Given the description of an element on the screen output the (x, y) to click on. 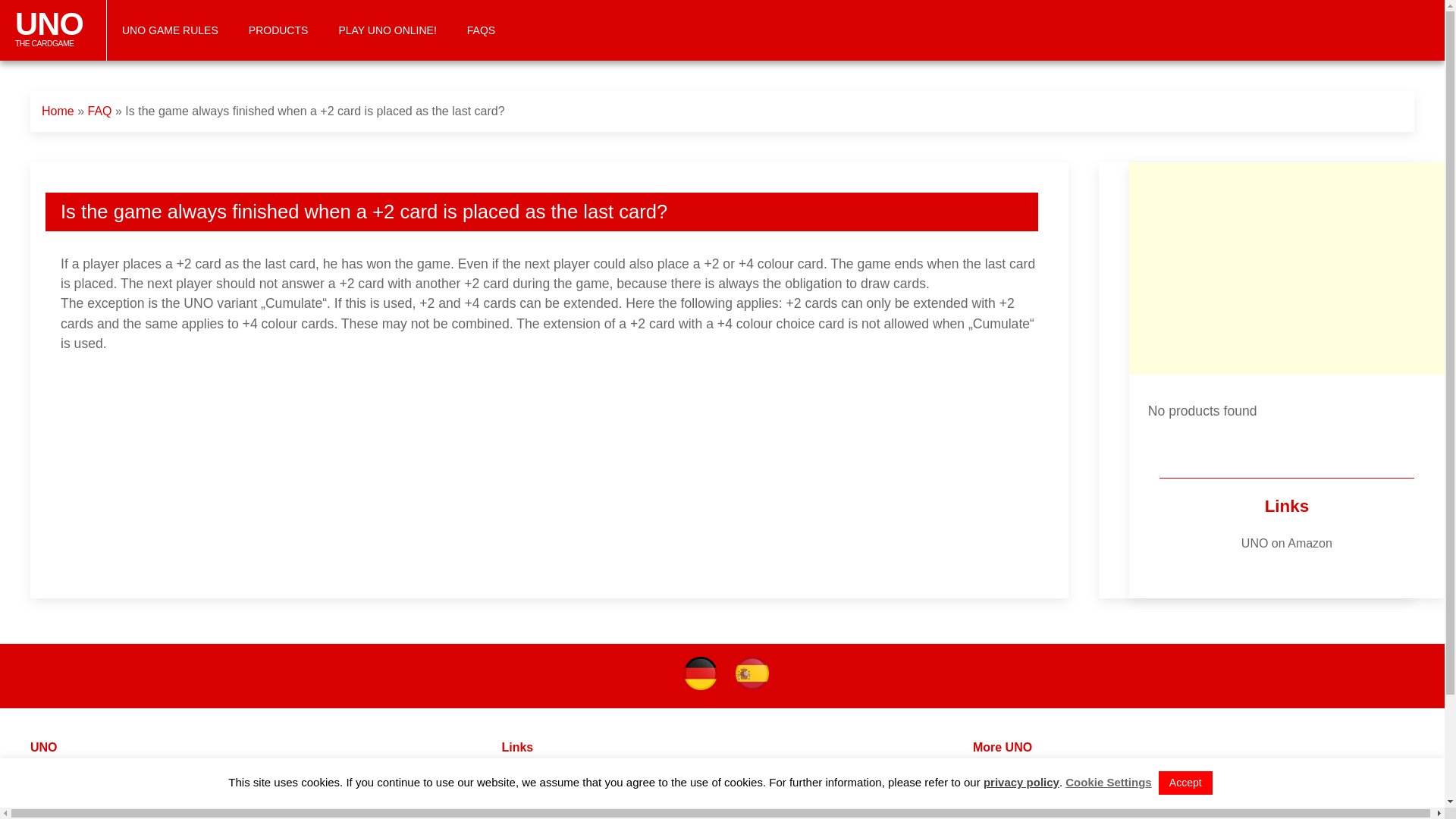
UNO as App for the Smartphone (53, 30)
Products (1059, 790)
UNO on Amazon (54, 790)
privacy policy (1286, 543)
UNO GAME RULES (1021, 781)
Cookie Settings (169, 30)
Privacy policy (1108, 781)
The history of UNO (537, 809)
Home (1024, 772)
UNO game rules (58, 110)
PRODUCTS (75, 772)
PLAY UNO ONLINE! (277, 30)
Imprint (387, 30)
FAQ (519, 790)
